Given the description of an element on the screen output the (x, y) to click on. 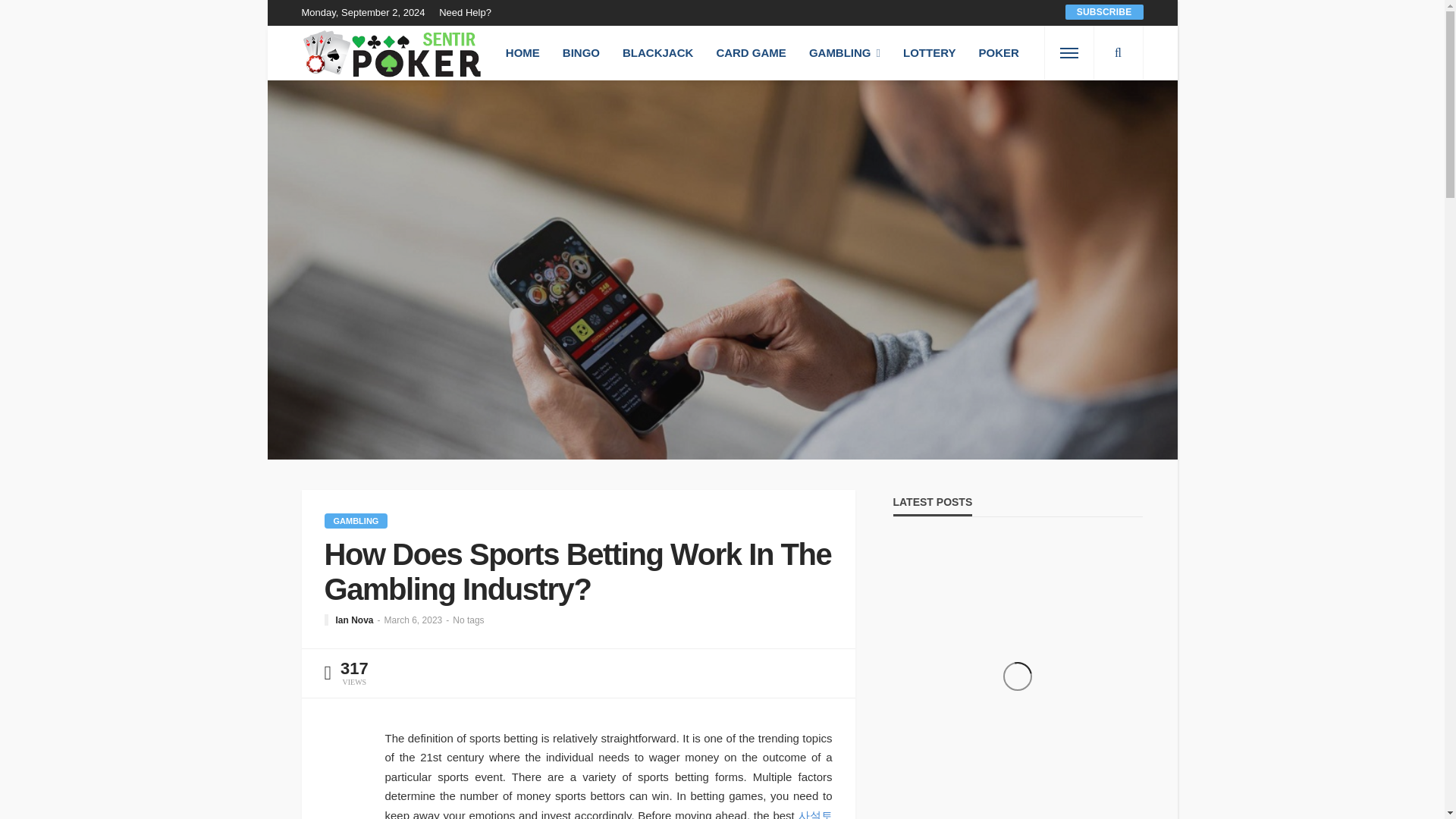
POKER (997, 52)
CARD GAME (750, 52)
LOTTERY (928, 52)
Need Help? (469, 12)
Sentir Poker -Comprehensive Advice For Casino Games (393, 52)
HOME (523, 52)
Ian Nova (353, 620)
BLACKJACK (657, 52)
GAMBLING (356, 520)
GAMBLING (844, 52)
